Given the description of an element on the screen output the (x, y) to click on. 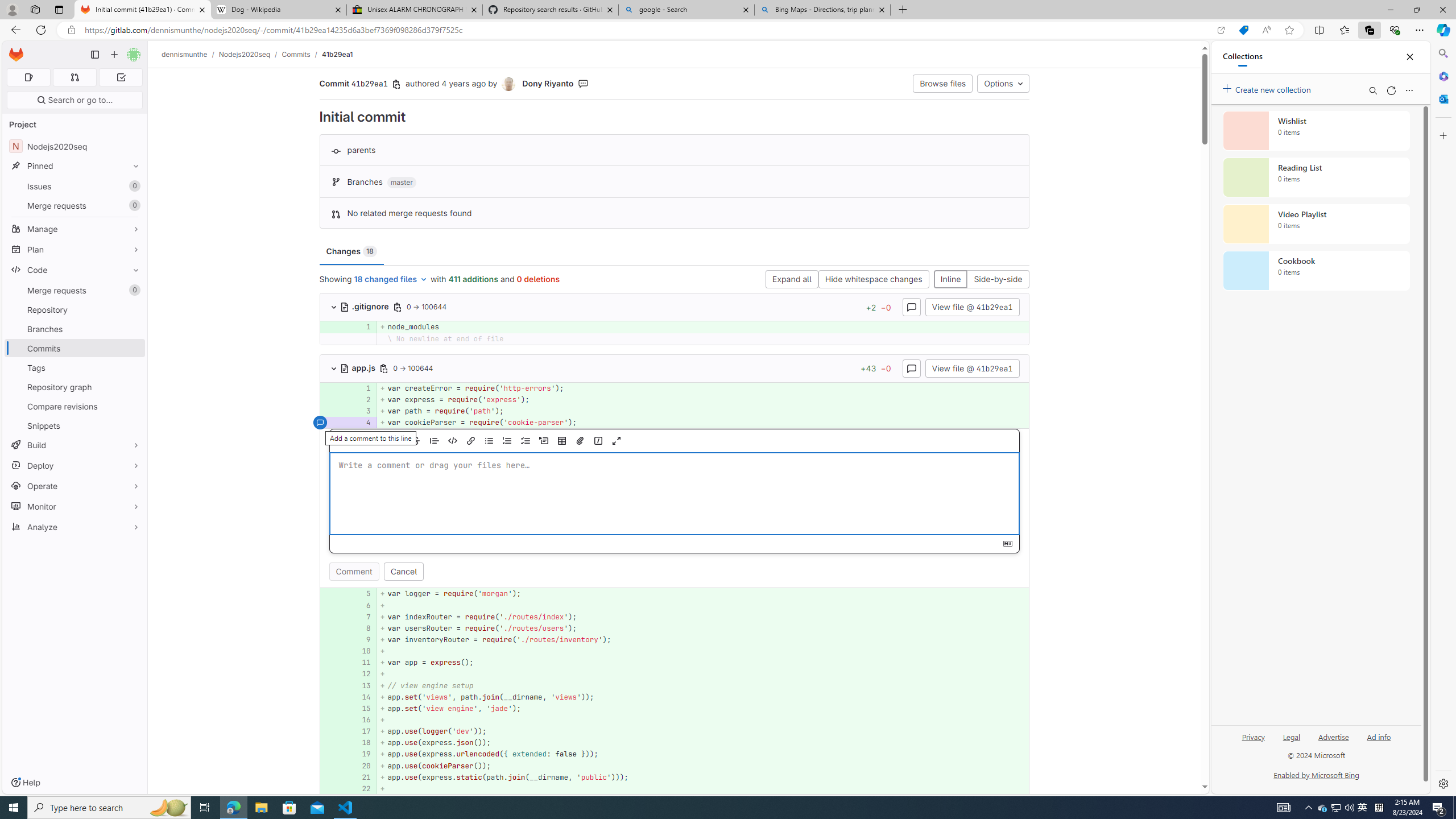
7 (362, 616)
Pinned (74, 165)
Assigned issues 0 (28, 76)
Add bold text (Ctrl+B) (379, 440)
22 (362, 788)
41b29ea1 (337, 53)
9 (360, 639)
Add a numbered list (506, 440)
Add a bullet list (488, 440)
Add a table (561, 440)
